Given the description of an element on the screen output the (x, y) to click on. 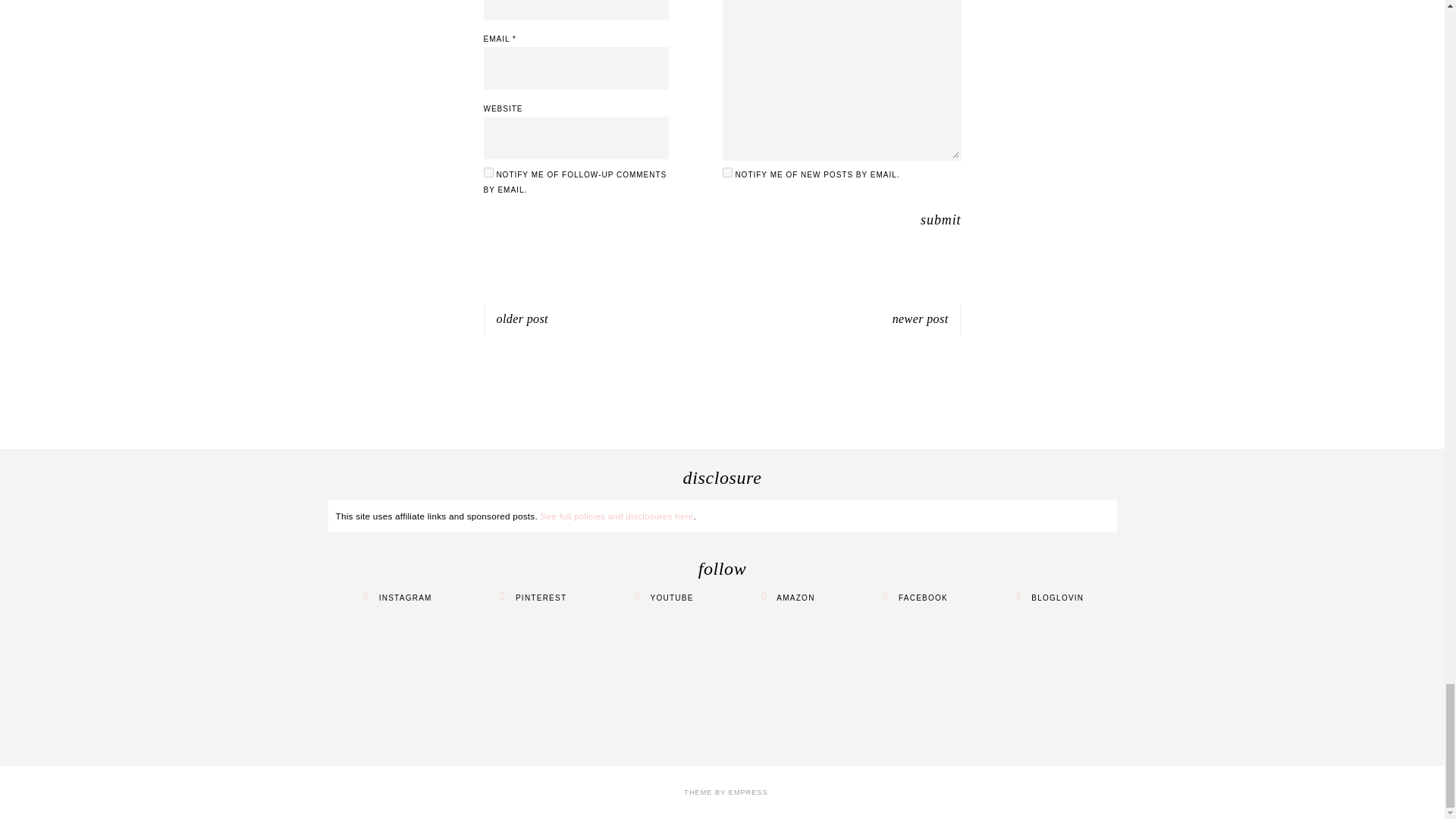
Submit (940, 220)
subscribe (727, 172)
subscribe (488, 172)
